Given the description of an element on the screen output the (x, y) to click on. 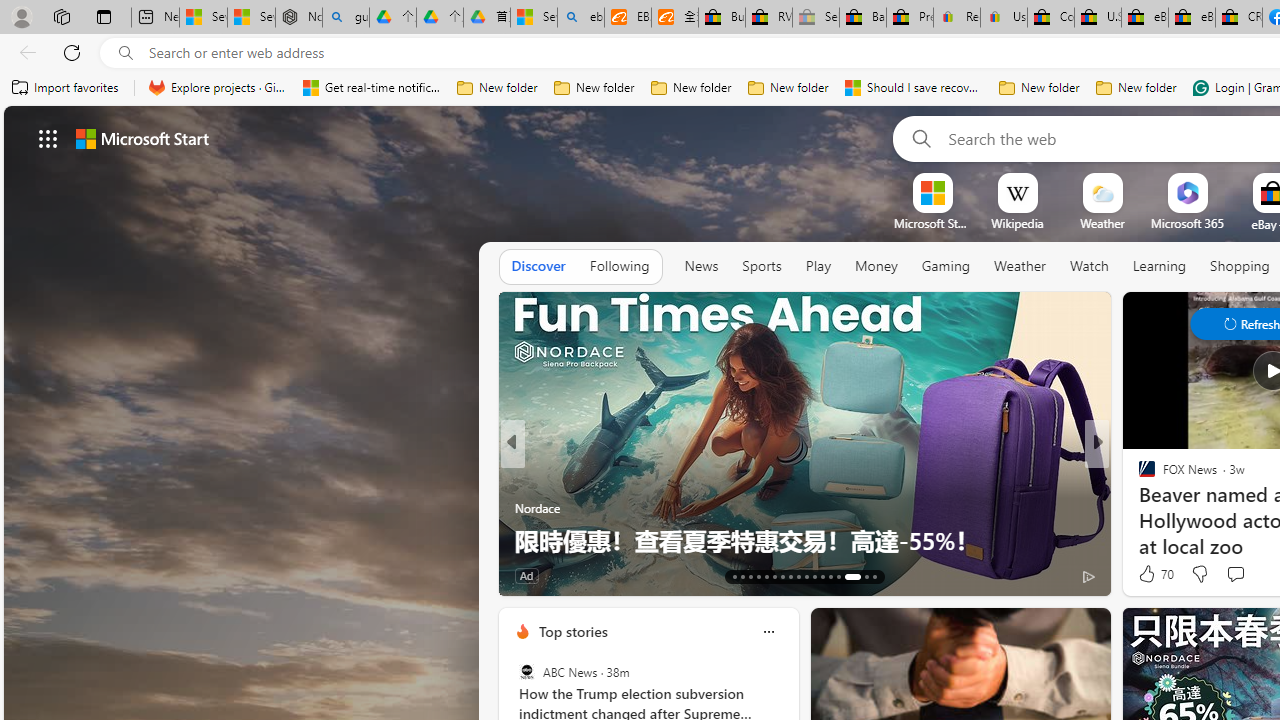
Baby Keepsakes & Announcements for sale | eBay (862, 17)
Learning (1159, 267)
Sports (761, 267)
29 Like (1149, 574)
Gaming (945, 267)
News (701, 267)
11 Like (1149, 574)
AutomationID: tab-23 (814, 576)
Search icon (125, 53)
Watch (1089, 267)
Start the conversation (1234, 573)
